Given the description of an element on the screen output the (x, y) to click on. 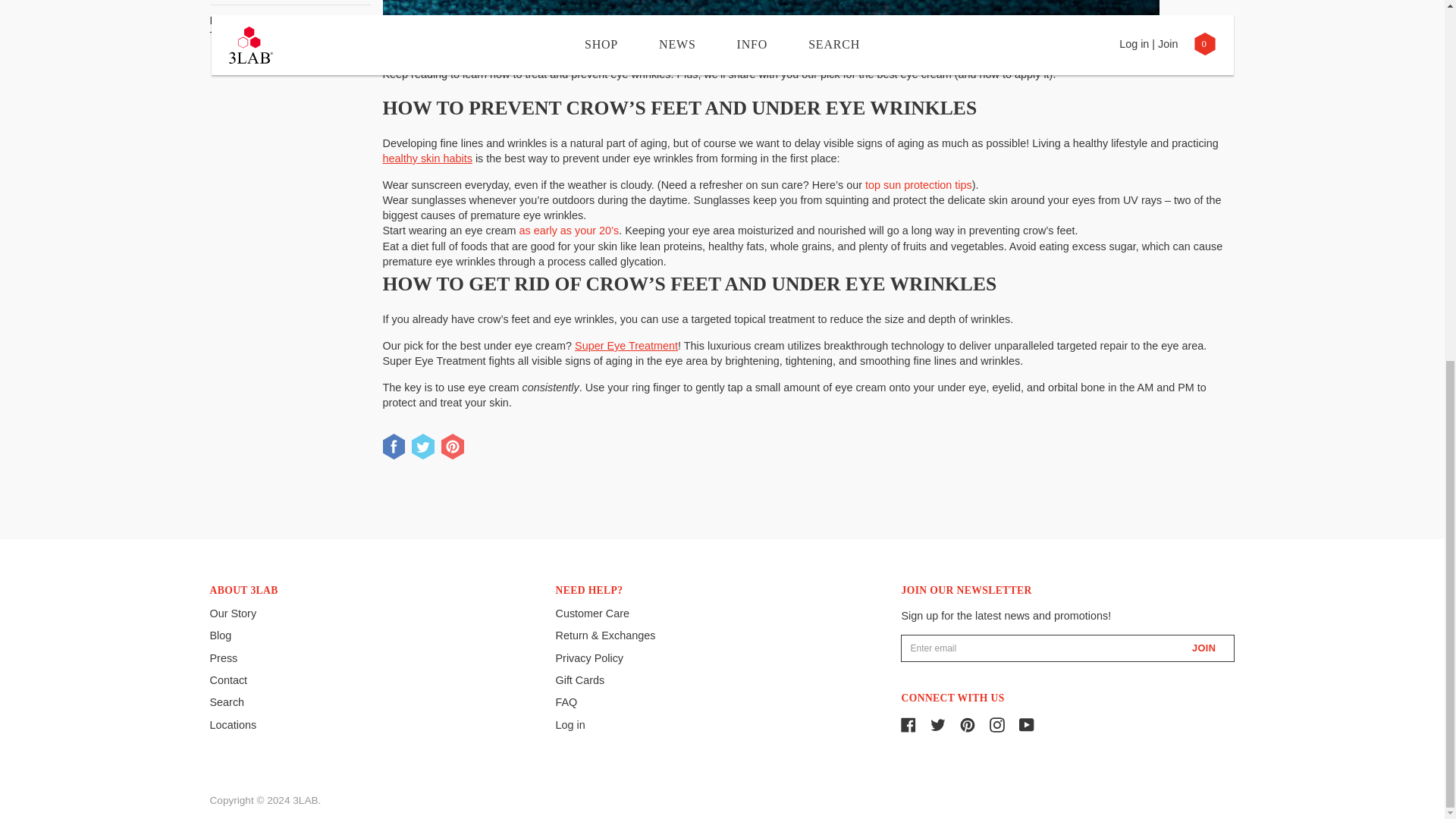
Join (1187, 647)
3LAB on Instagram (997, 723)
3LAB on Twitter (937, 723)
3LAB on Facebook (908, 723)
3LAB on YouTube (1026, 723)
3LAB on Pinterest (967, 723)
